Given the description of an element on the screen output the (x, y) to click on. 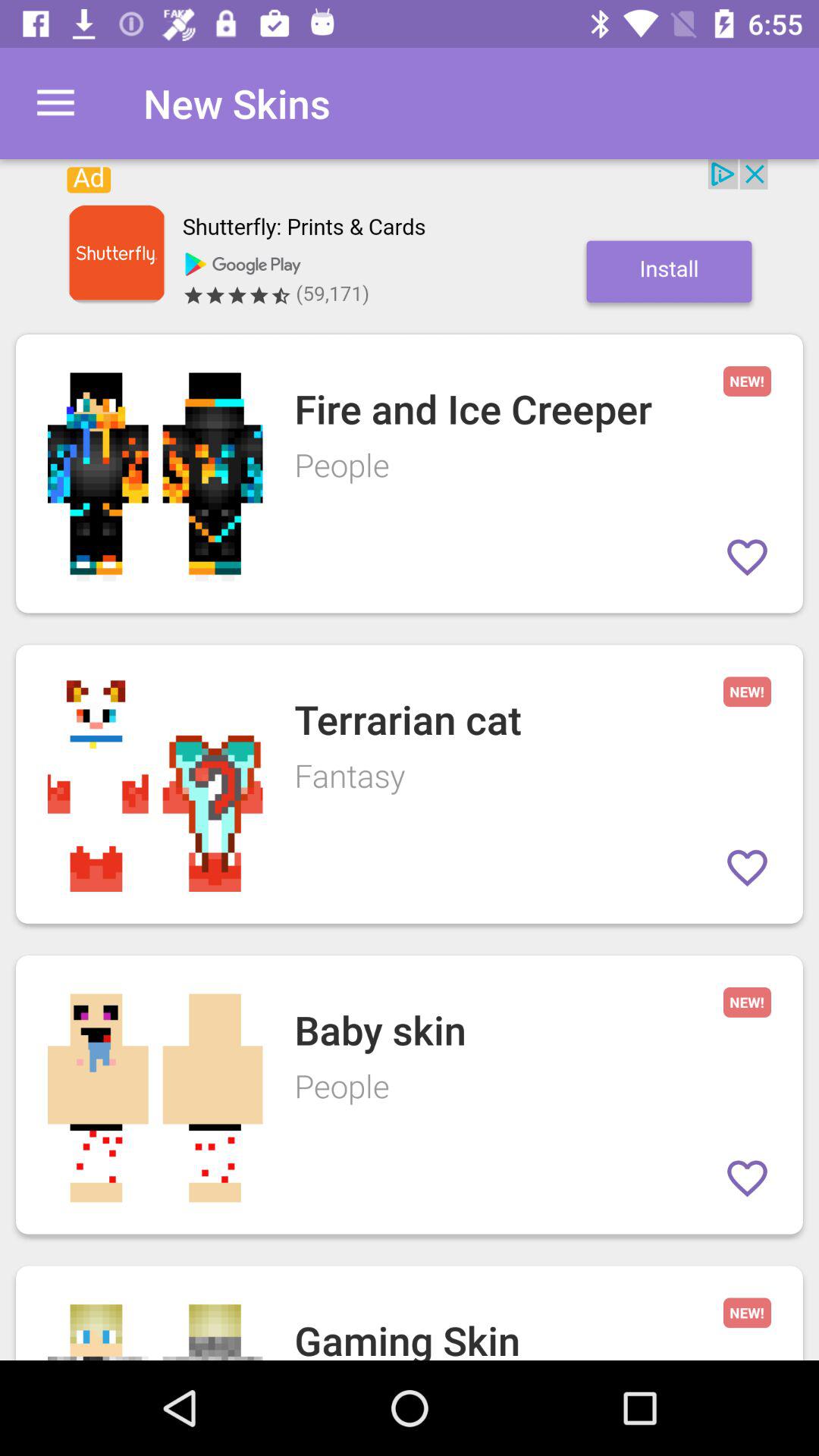
love this content (747, 1178)
